Given the description of an element on the screen output the (x, y) to click on. 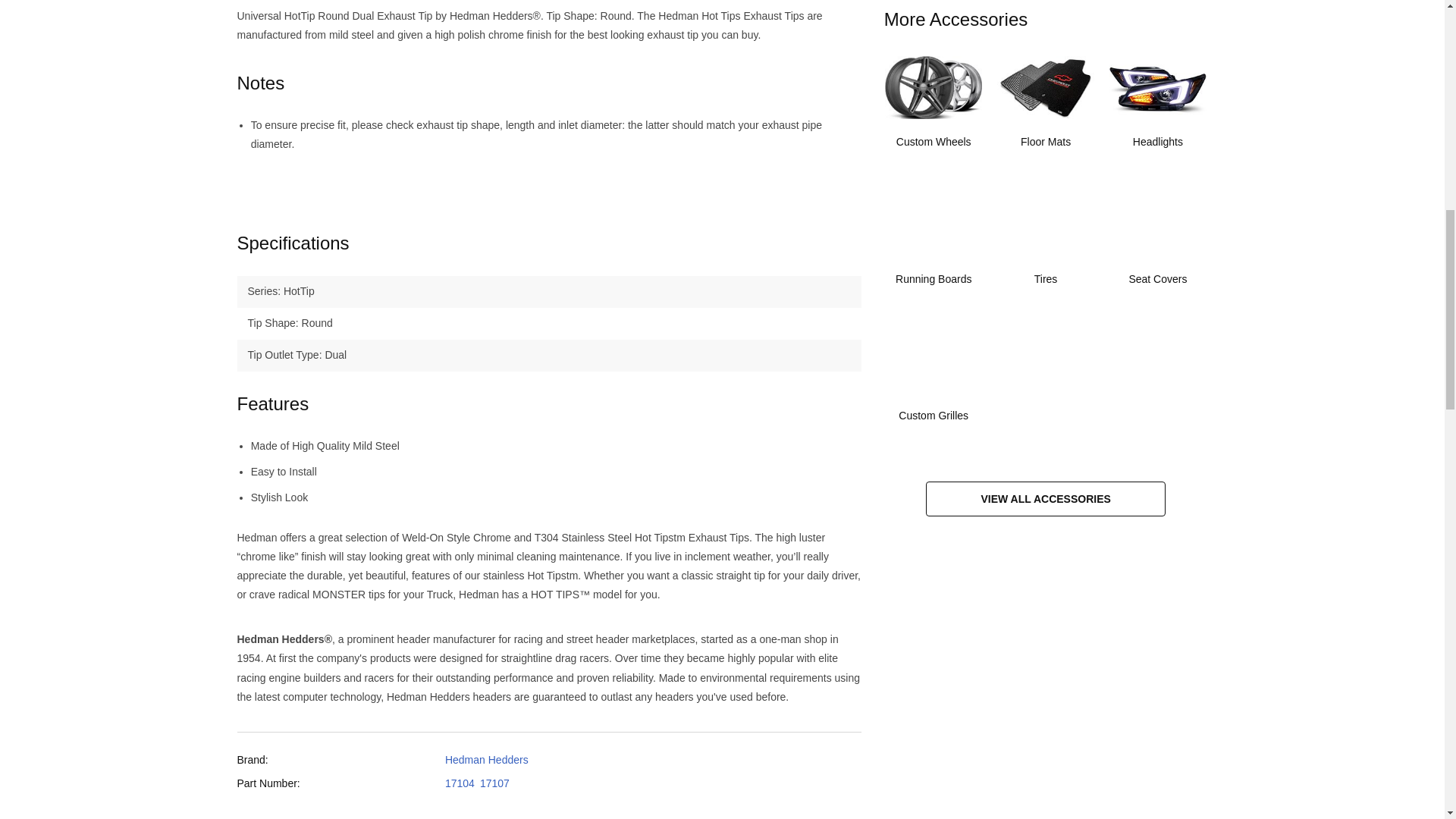
17104 (459, 783)
About us (426, 191)
17107 (494, 783)
Hedman Hedders (486, 759)
Product lines (296, 191)
